Given the description of an element on the screen output the (x, y) to click on. 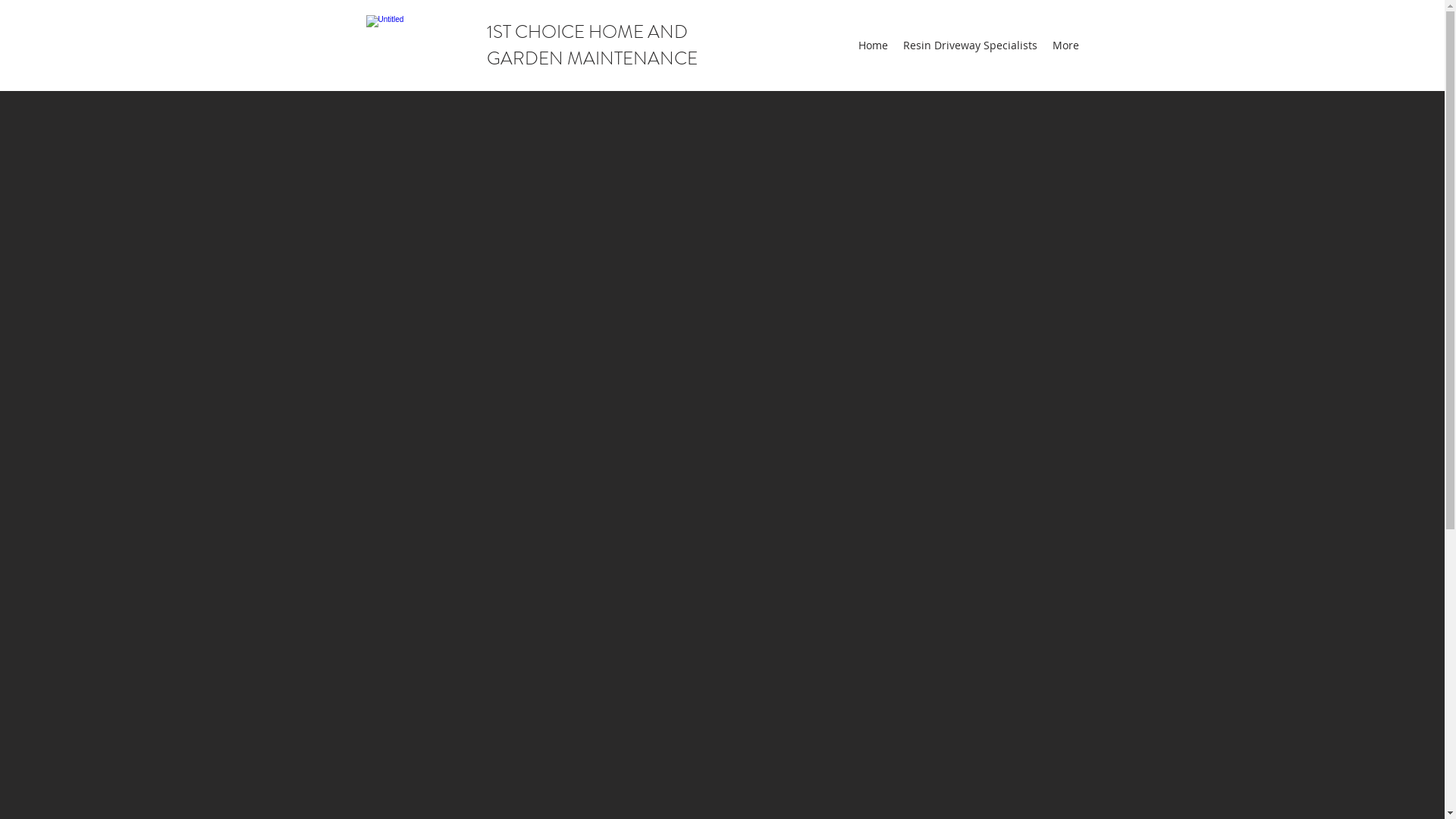
Resin Driveway Specialists Element type: text (969, 45)
Home Element type: text (872, 45)
